Given the description of an element on the screen output the (x, y) to click on. 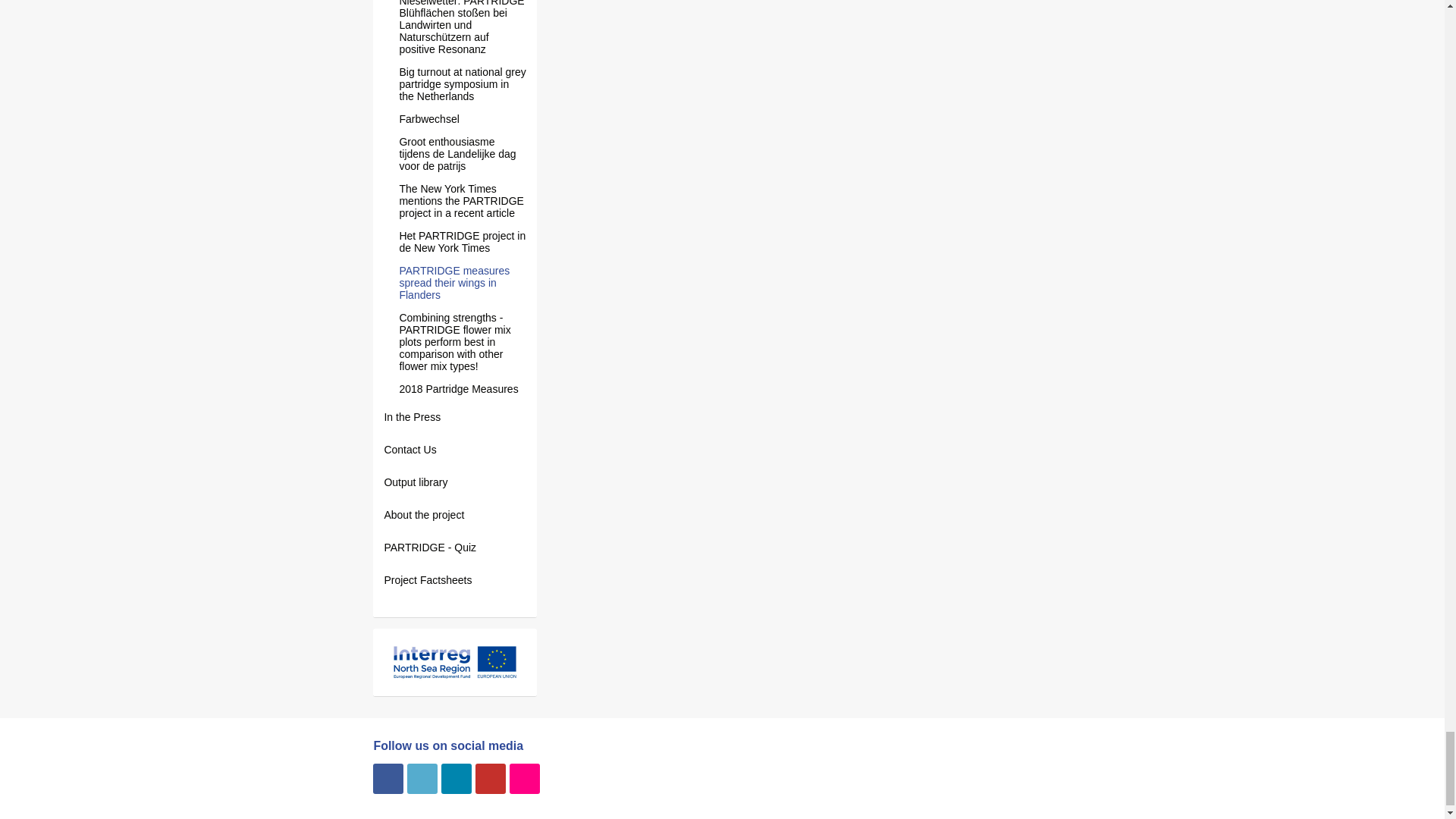
Facebook (387, 778)
Twitter (422, 778)
Flickr (524, 778)
Youtube (490, 778)
LinkedIn (456, 778)
